Given the description of an element on the screen output the (x, y) to click on. 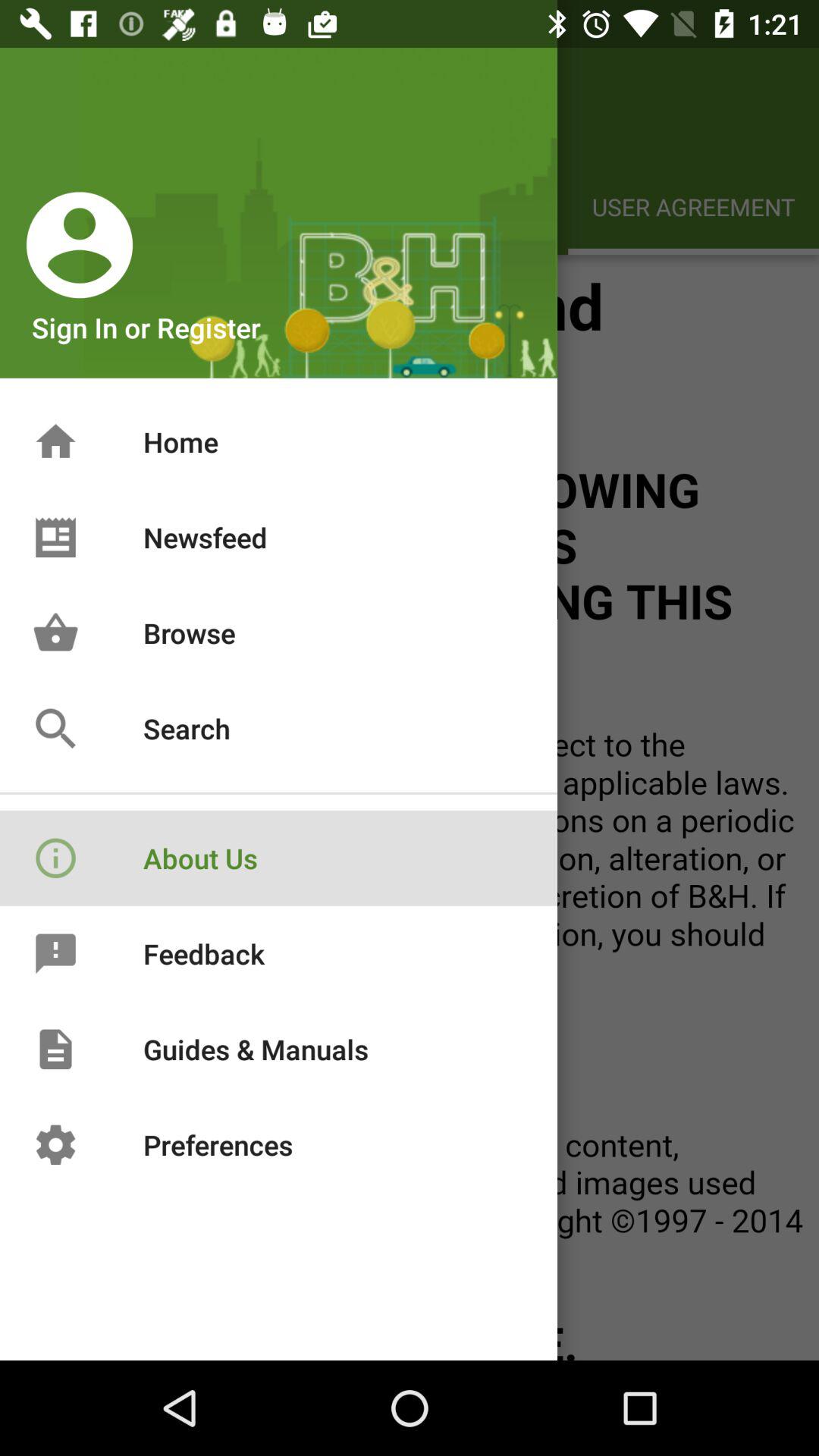
click on user image (79, 244)
